Given the description of an element on the screen output the (x, y) to click on. 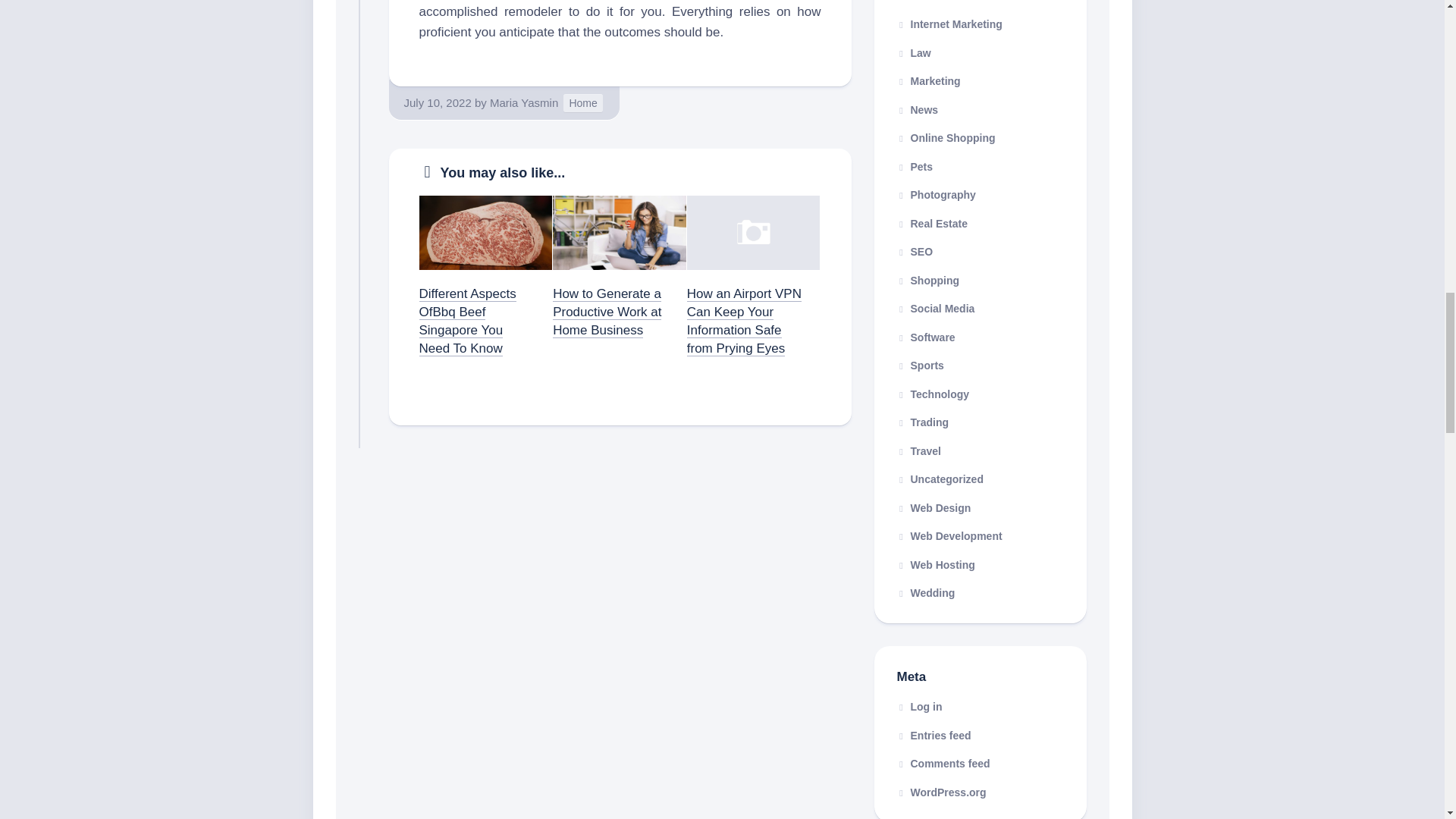
Home (582, 103)
Different Aspects OfBbq Beef Singapore You Need To Know (467, 320)
Maria Yasmin (523, 102)
Posts by Maria Yasmin (523, 102)
How to Generate a Productive Work at Home Business (607, 311)
